Given the description of an element on the screen output the (x, y) to click on. 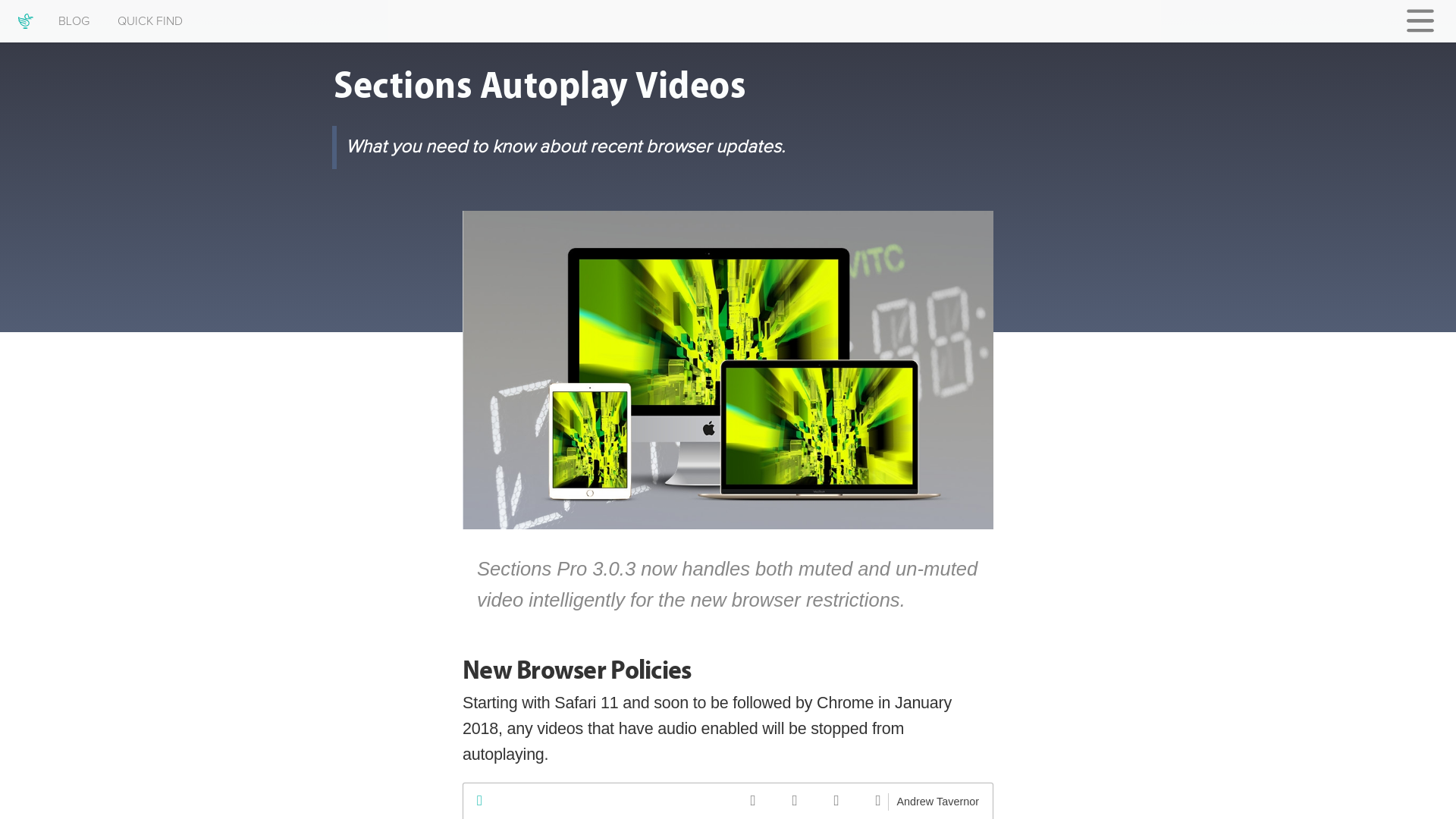
BLOG (73, 12)
QUICK FIND (149, 14)
